Given the description of an element on the screen output the (x, y) to click on. 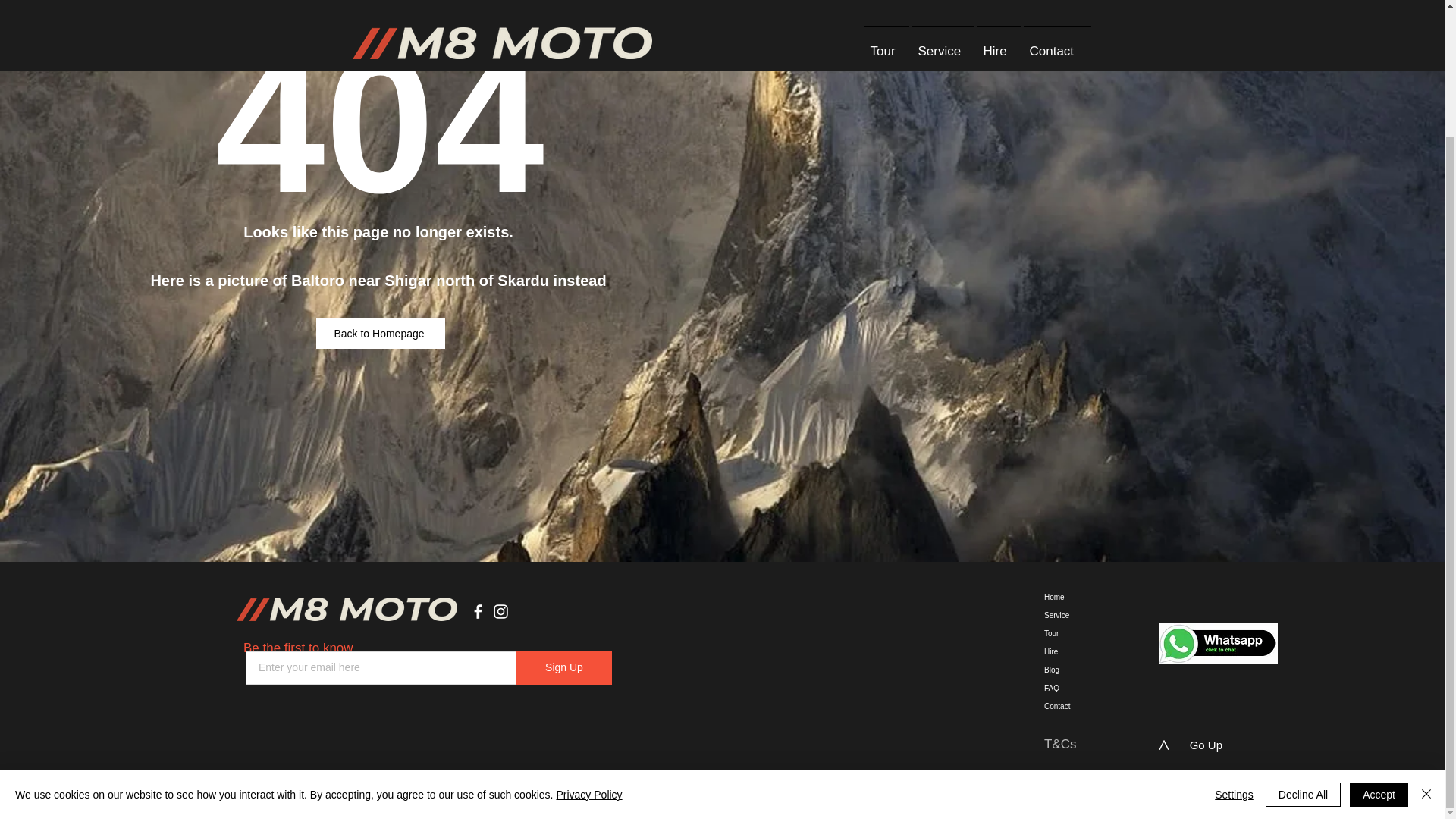
Decline All (1302, 640)
FAQ (1068, 688)
Service (1068, 615)
Privacy Policy (588, 640)
Home (1068, 597)
Go Up (1206, 744)
Tour (1068, 633)
WhatsApp Button 1.jpeg (1218, 643)
Sign Up (563, 667)
Accept (1378, 640)
Contact (1068, 706)
Back to Homepage (380, 333)
Hire (1068, 651)
Blog (1068, 669)
M8 Logo Name Only.png (346, 608)
